Given the description of an element on the screen output the (x, y) to click on. 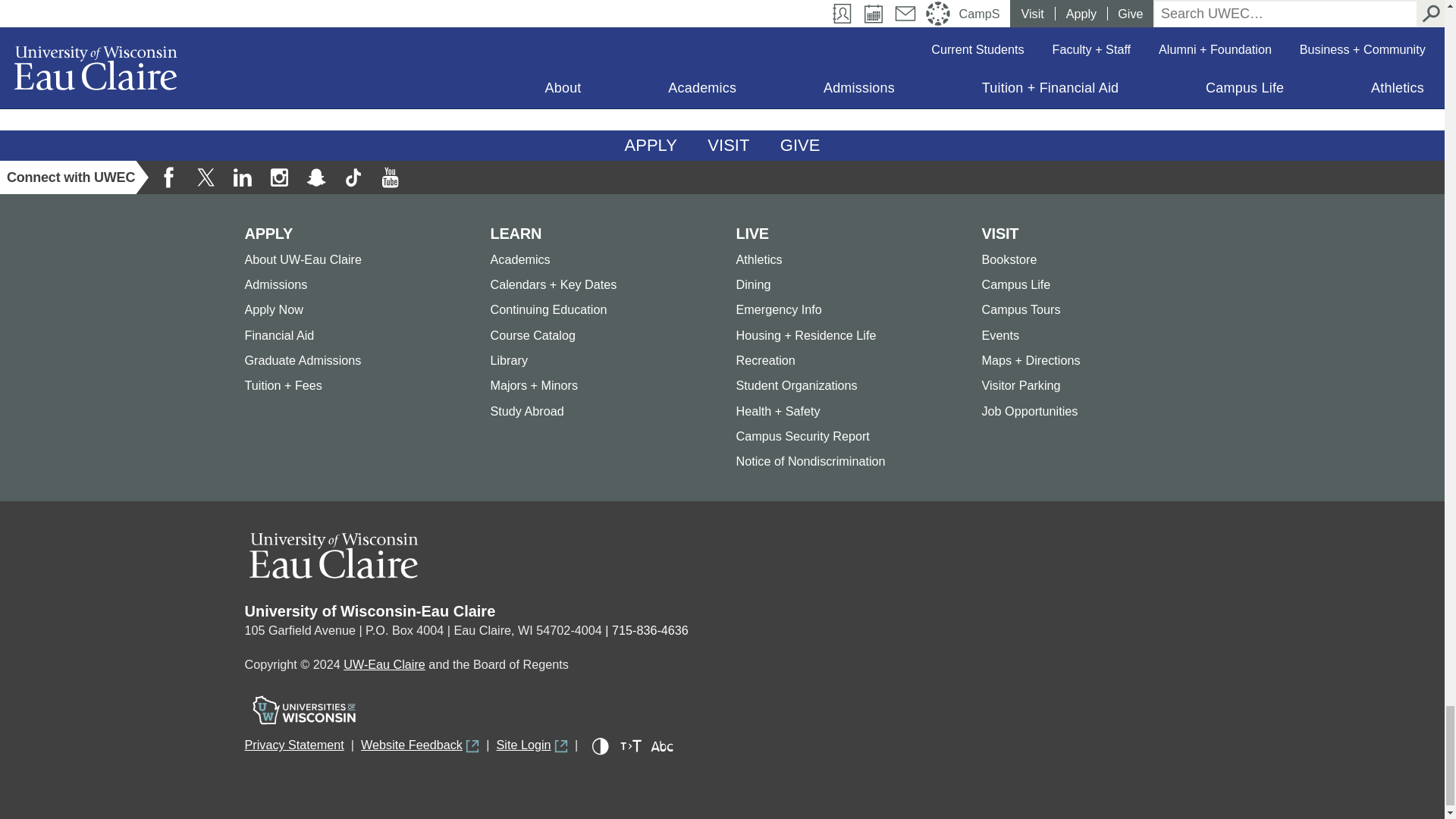
Give Now (800, 145)
Follow us on Instagram (278, 177)
Plan a Visit (728, 145)
Like us on Facebook (169, 177)
Apply Now (650, 145)
Follow us on TikTok (352, 177)
Connect with us on LinkedIn (242, 177)
Snap with us on Snapchat (316, 177)
Subscribe to our YouTube channel (389, 177)
Follow us on Twitter (205, 177)
